Given the description of an element on the screen output the (x, y) to click on. 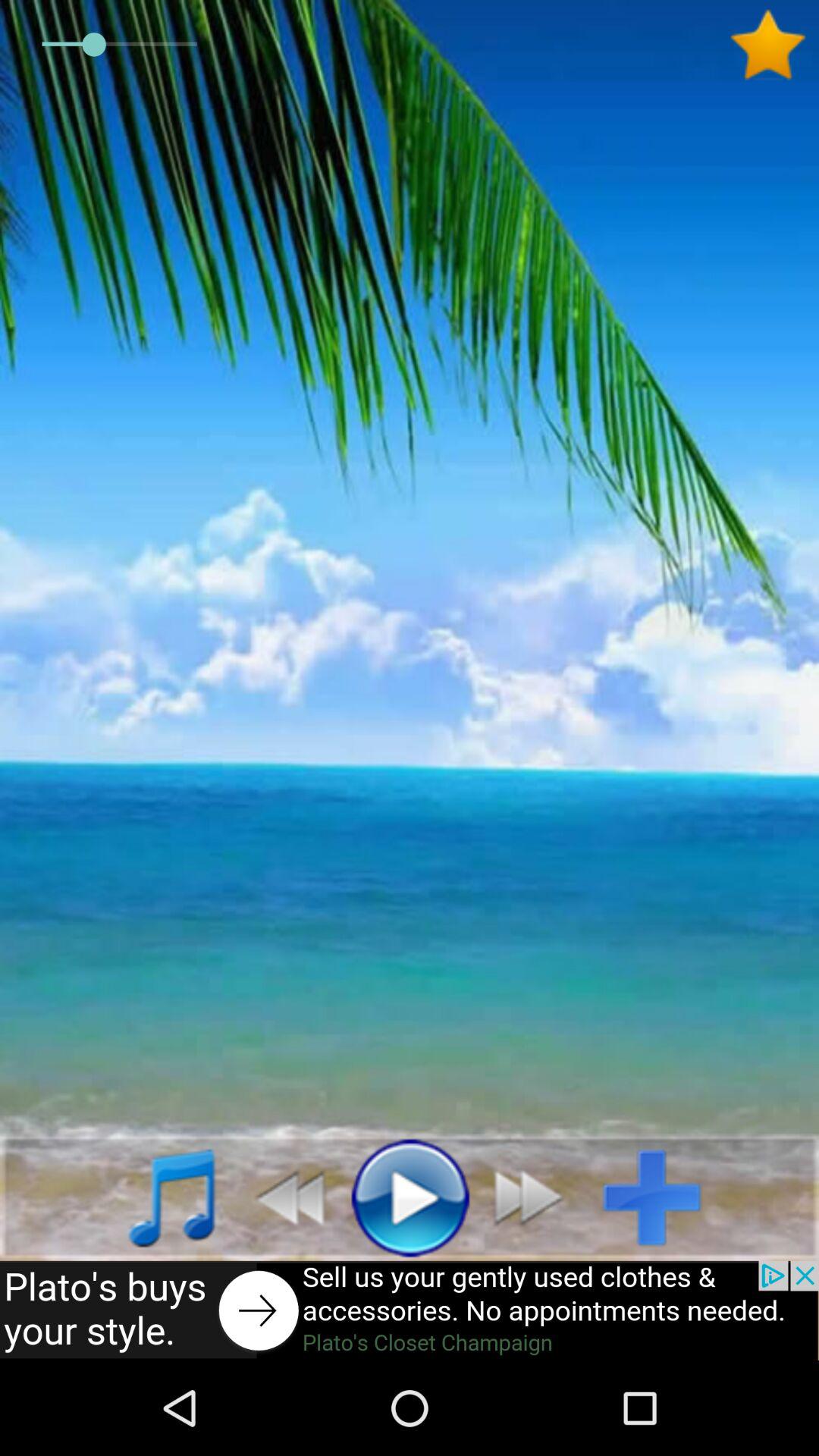
go back (281, 1196)
